Given the description of an element on the screen output the (x, y) to click on. 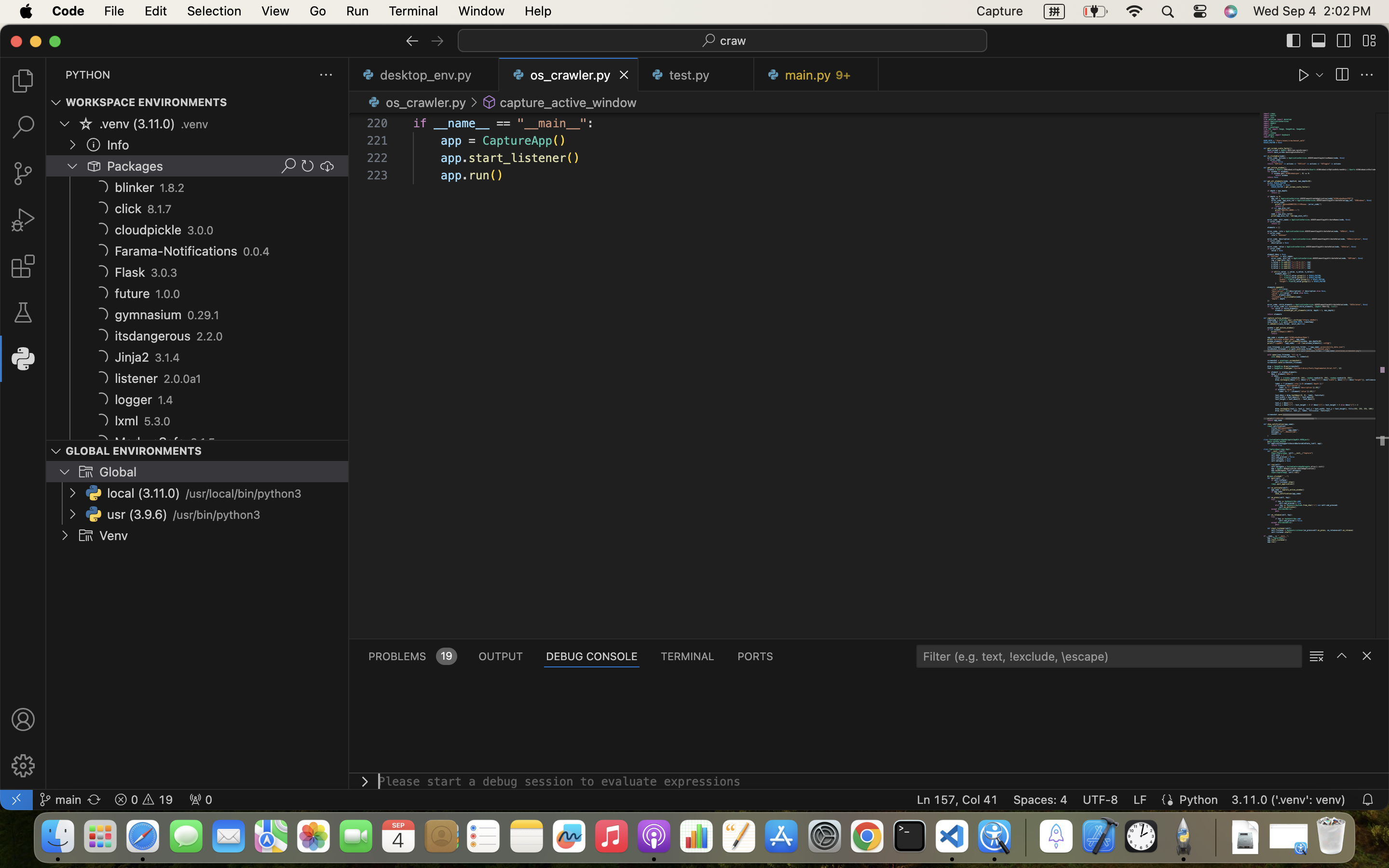
3.0.3 Element type: AXStaticText (163, 272)
 Element type: AXCheckBox (1318, 40)
click Element type: AXStaticText (127, 208)
5.3.0 Element type: AXStaticText (156, 421)
0  Element type: AXRadioButton (23, 173)
